Given the description of an element on the screen output the (x, y) to click on. 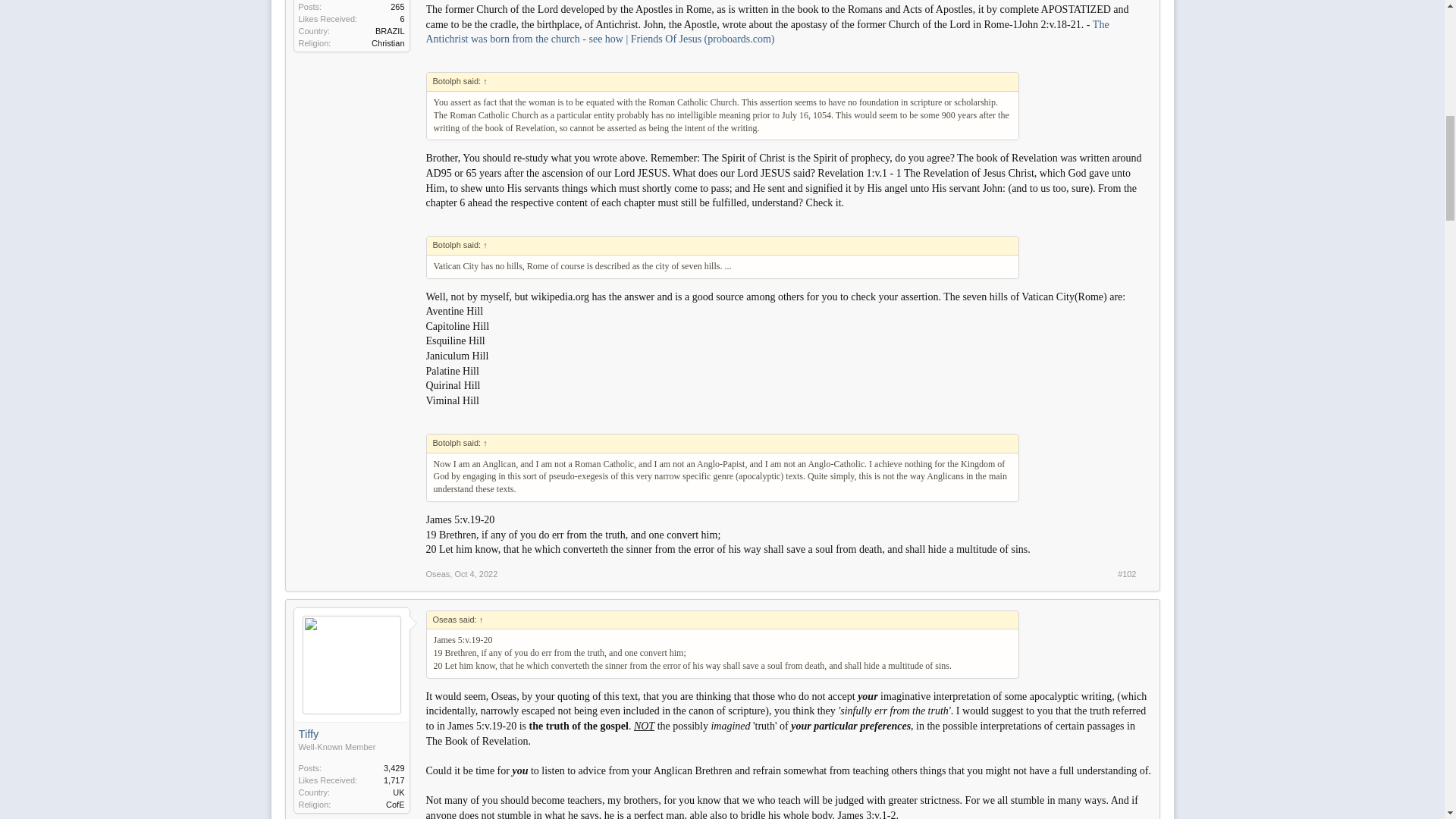
Oseas (437, 573)
Oct 4, 2022 (475, 573)
Permalink (1126, 573)
265 (397, 6)
Permalink (475, 573)
